Given the description of an element on the screen output the (x, y) to click on. 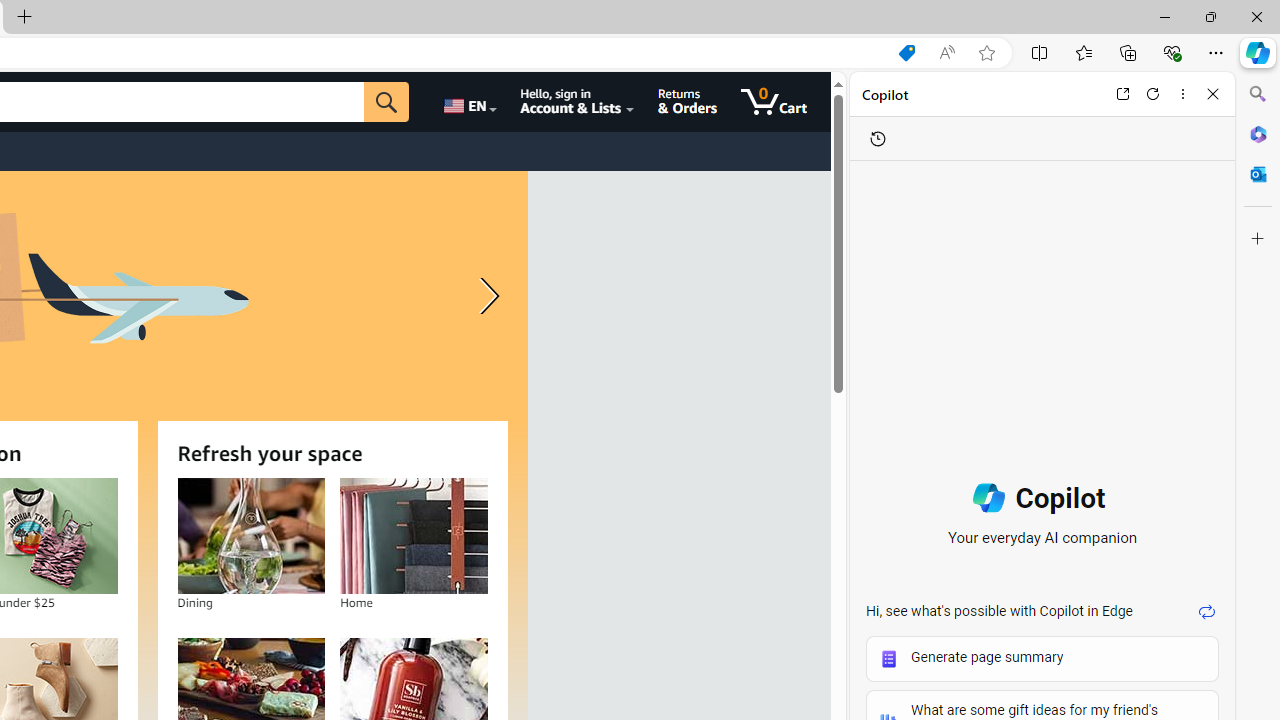
0 items in cart (774, 101)
Hello, sign in Account & Lists (576, 101)
Dining (250, 536)
Dining (250, 536)
